Given the description of an element on the screen output the (x, y) to click on. 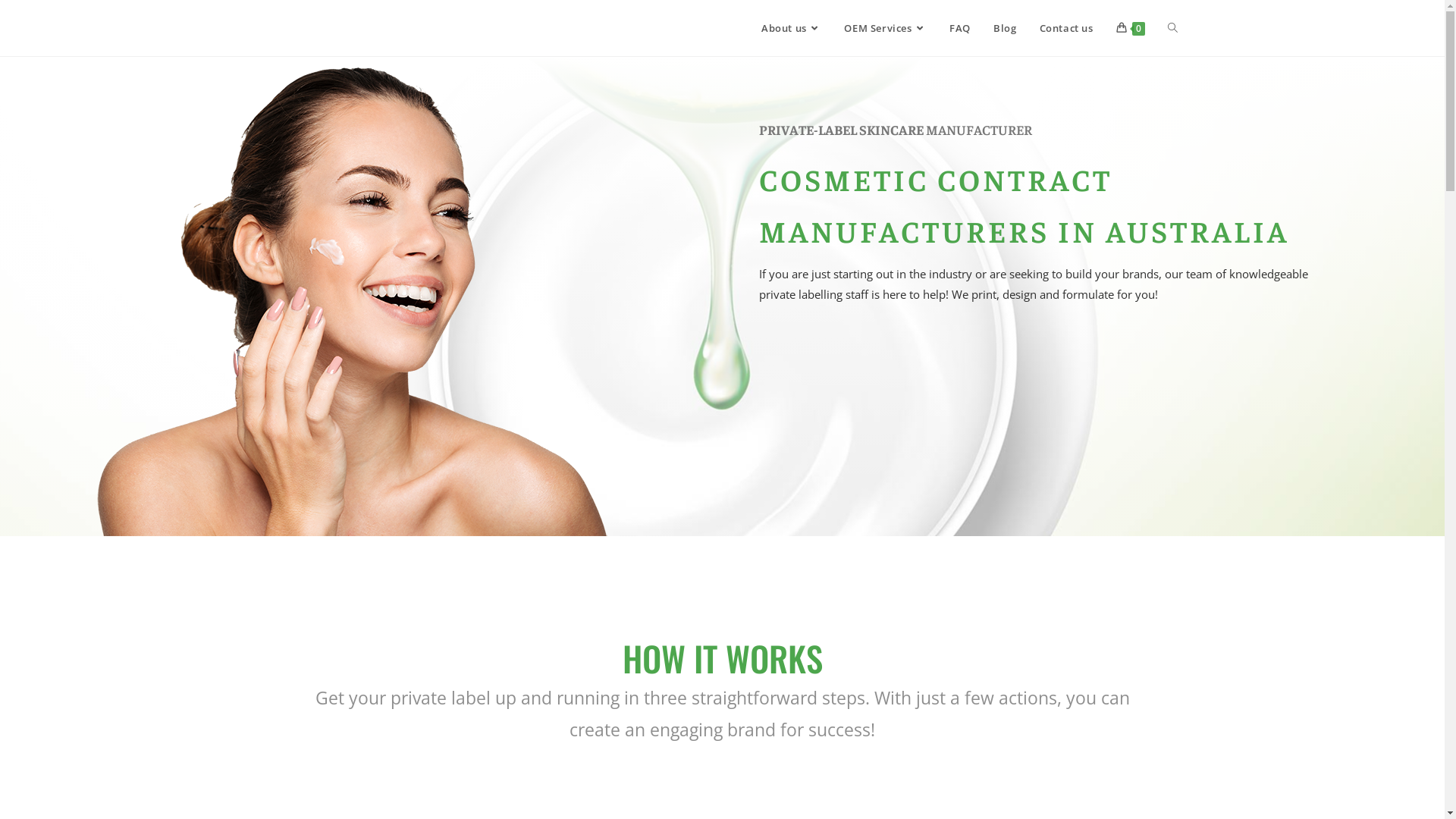
FAQ Element type: text (960, 28)
About us Element type: text (790, 28)
Contact us Element type: text (1066, 28)
0 Element type: text (1129, 28)
Private label brands Element type: hover (346, 296)
Blog Element type: text (1004, 28)
OEM Services Element type: text (885, 28)
